Given the description of an element on the screen output the (x, y) to click on. 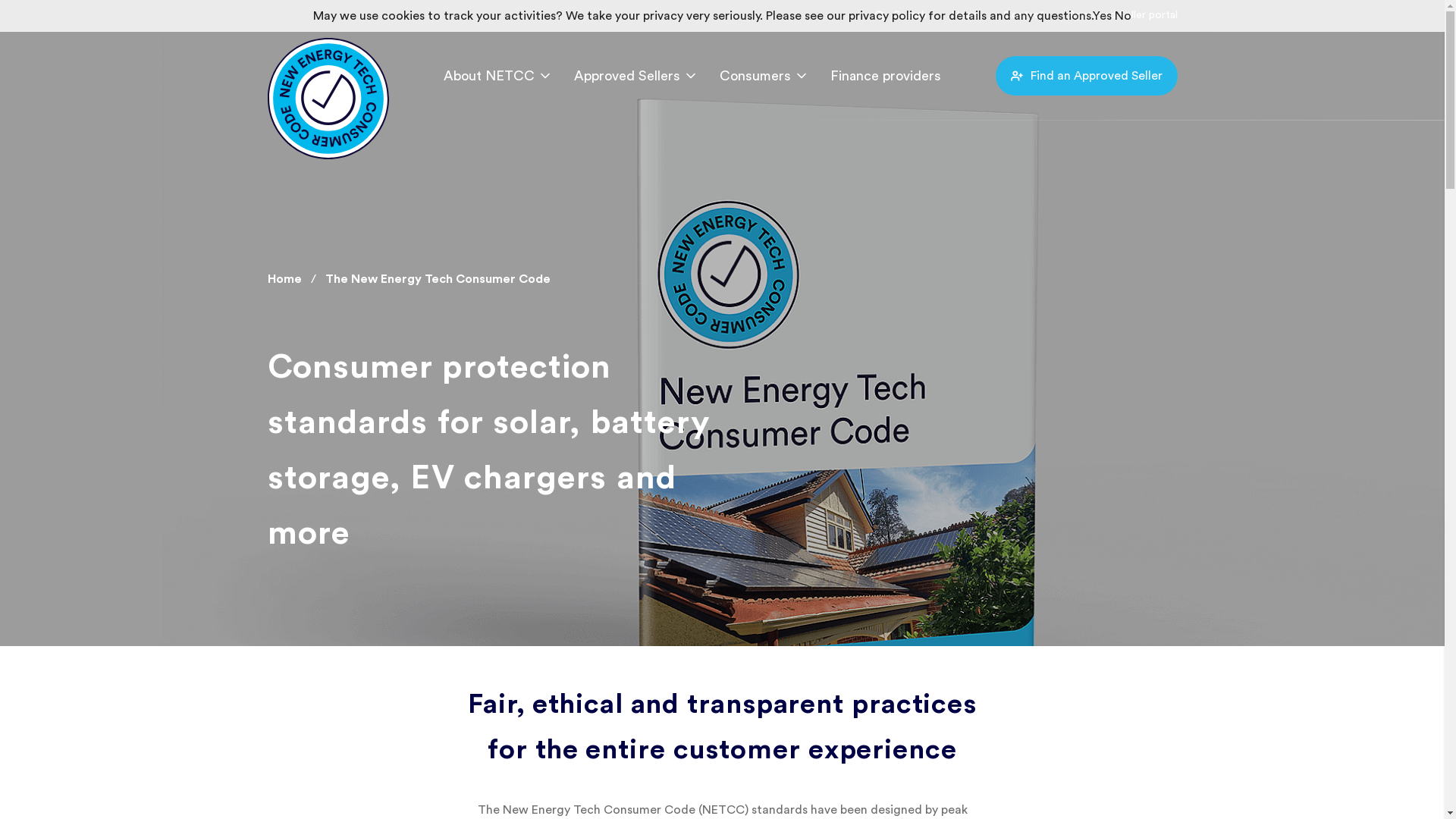
Finance providers Element type: text (884, 75)
Consumers Element type: text (761, 75)
About NETCC Element type: text (495, 75)
Home Element type: text (285, 279)
The New Energy Tech Consumer Code Element type: text (430, 279)
Approved Sellers Element type: text (633, 75)
NETCC Element type: hover (327, 67)
Contact Element type: text (1022, 15)
Approved Seller portal Element type: text (1121, 15)
No Element type: text (1122, 15)
Yes Element type: text (1101, 15)
News Element type: text (964, 15)
Find an Approved Seller Element type: text (1085, 75)
Search Element type: text (899, 15)
